Given the description of an element on the screen output the (x, y) to click on. 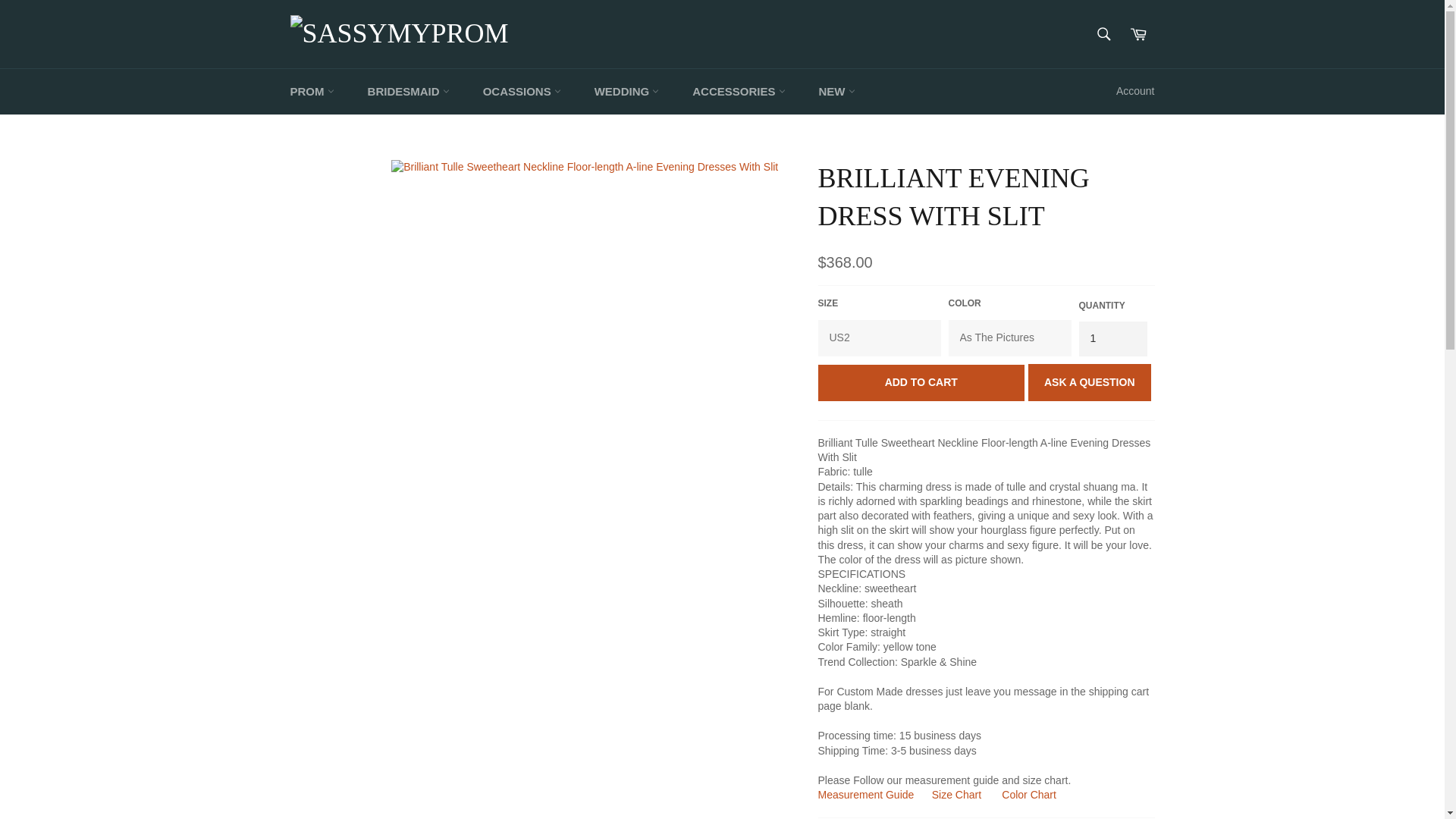
1 (1112, 338)
Measurement Guide (865, 794)
